Given the description of an element on the screen output the (x, y) to click on. 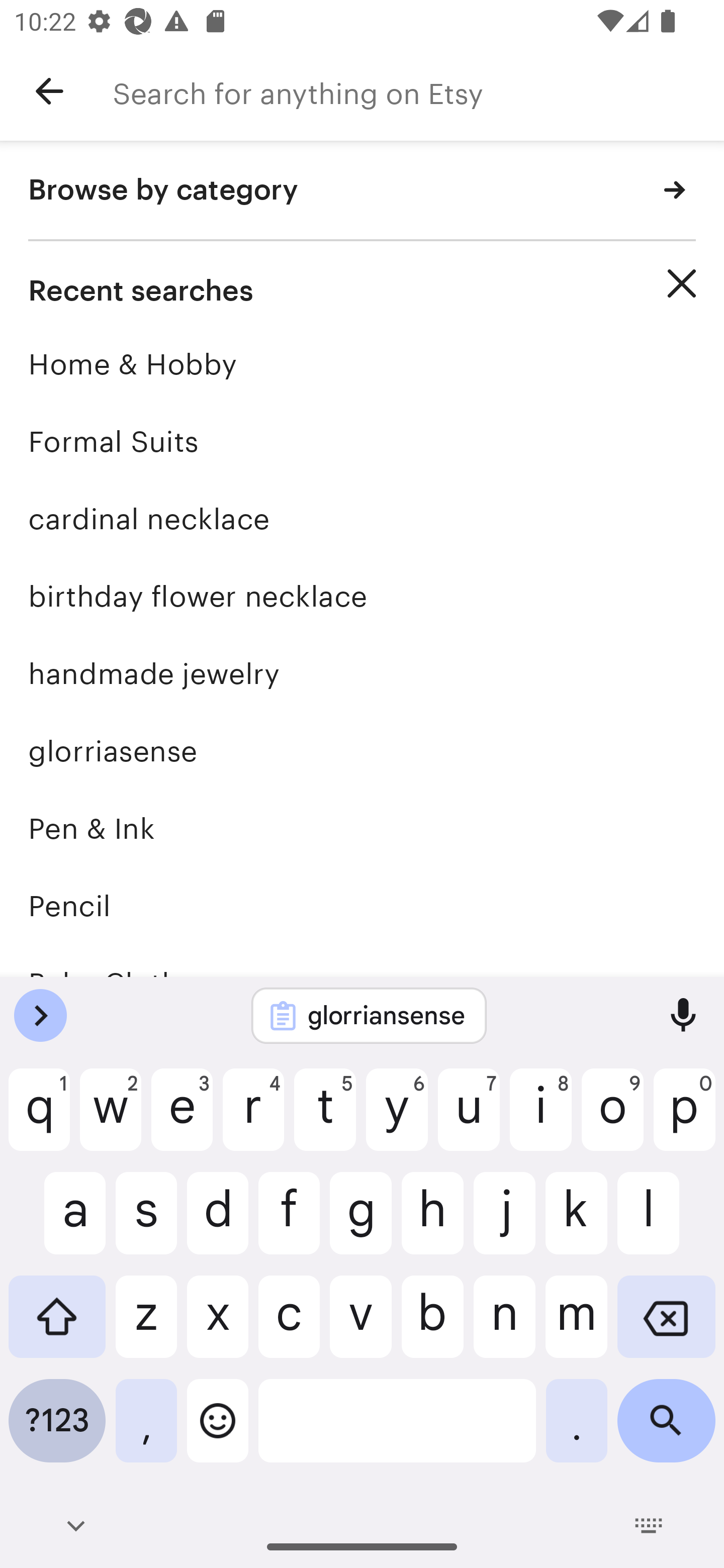
Navigate up (49, 91)
Search for anything on Etsy (418, 91)
Browse by category (362, 191)
Clear (681, 283)
Home & Hobby (362, 364)
Formal Suits (362, 440)
cardinal necklace (362, 518)
birthday flower necklace (362, 596)
handmade jewelry (362, 673)
glorriasense (362, 750)
Pen & Ink (362, 828)
Pencil (362, 906)
